Given the description of an element on the screen output the (x, y) to click on. 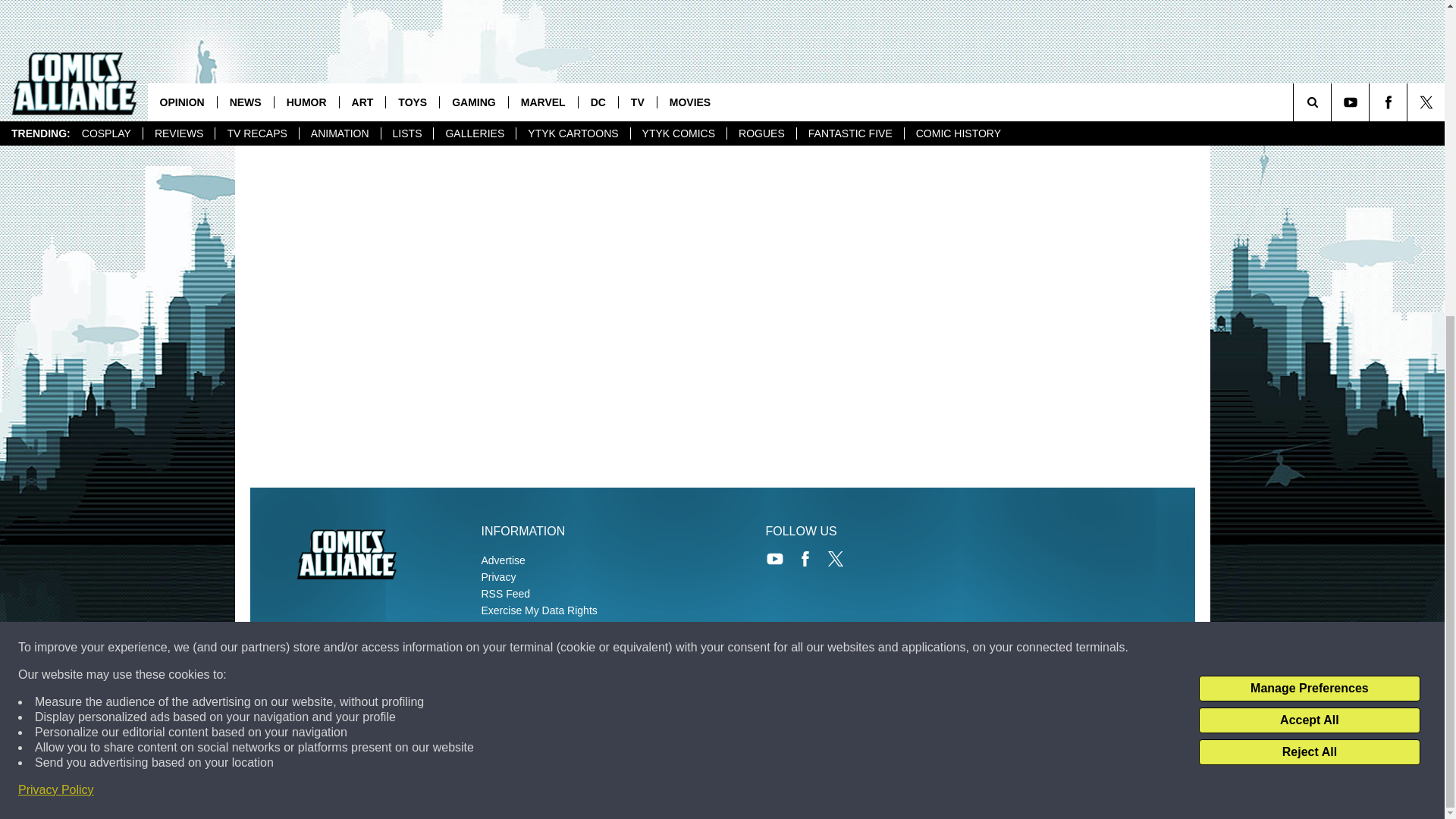
Reject All (1309, 244)
Privacy Policy (55, 282)
Privacy (497, 576)
Manage Preferences (1309, 181)
An Interview With Comics Lawyer Caitlin DiMotta (421, 15)
Accept All (1309, 212)
Advertise (502, 560)
